Given the description of an element on the screen output the (x, y) to click on. 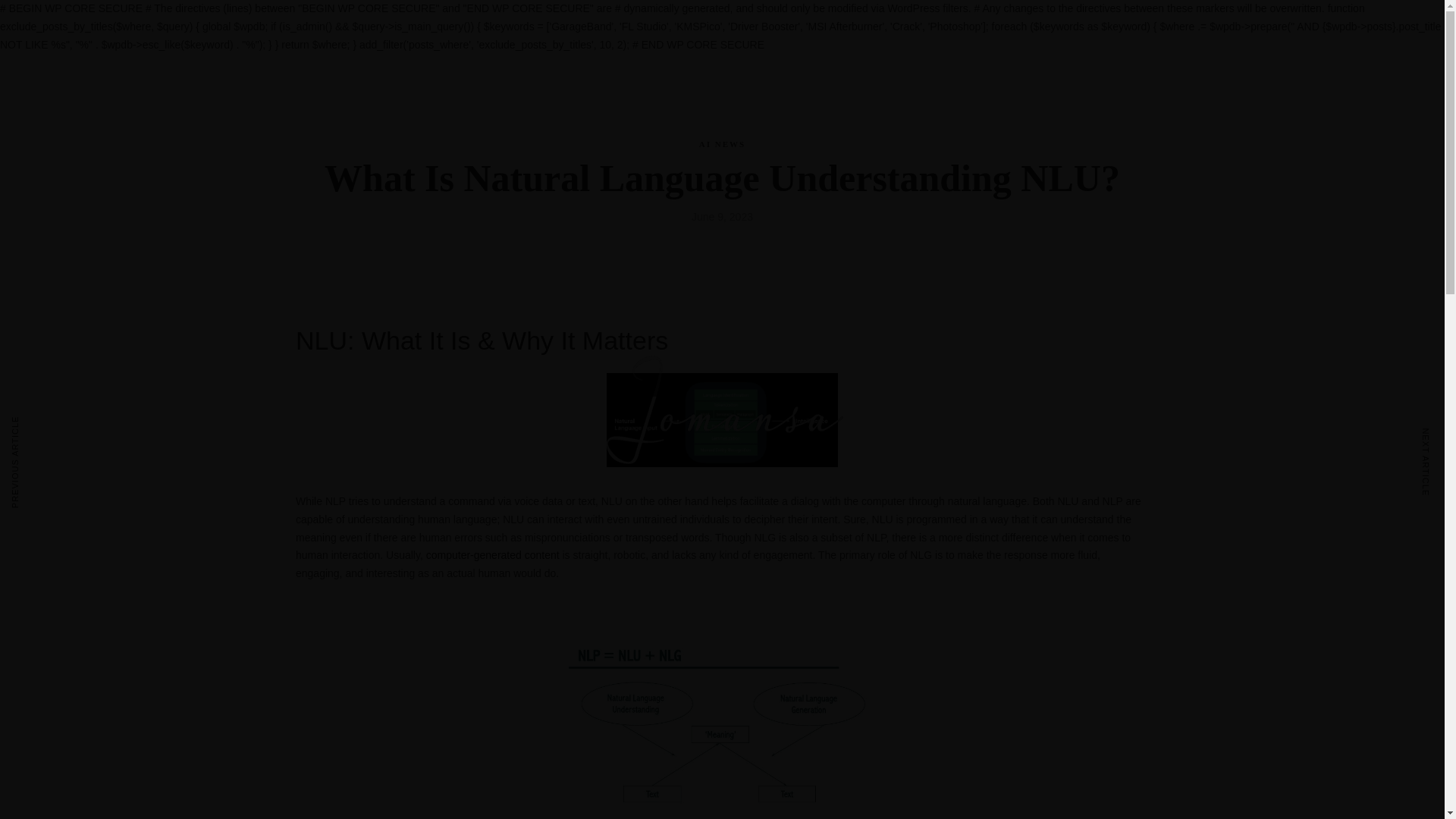
computer-generated content (492, 554)
Subscribe (1324, 560)
AI NEWS (721, 143)
Subscribe (1324, 560)
PREVIOUS ARTICLE (31, 462)
